Given the description of an element on the screen output the (x, y) to click on. 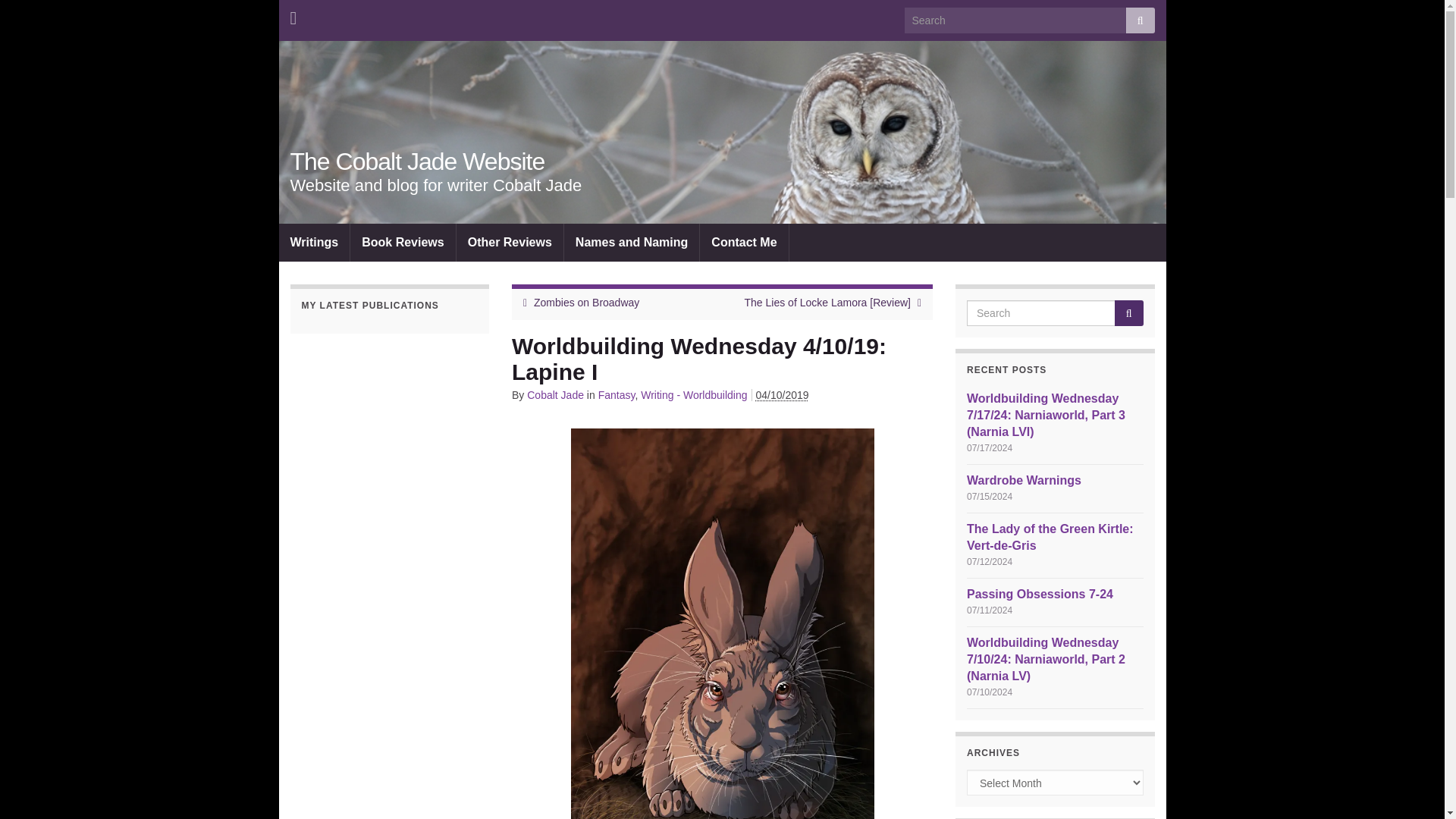
Book Reviews (402, 242)
The Cobalt Jade Website (416, 161)
Writing - Worldbuilding (693, 395)
Contact Me (743, 242)
Cobalt Jade (555, 395)
Wardrobe Warnings (1023, 480)
Writings (314, 242)
Fantasy (616, 395)
Go back to the front page (416, 161)
Passing Obsessions 7-24 (1050, 537)
2019-04-10T08:33:05-07:00 (1039, 594)
Other Reviews (782, 395)
Subscribe to The Cobalt Jade Website's RSS feed (510, 242)
Zombies on Broadway (293, 15)
